Given the description of an element on the screen output the (x, y) to click on. 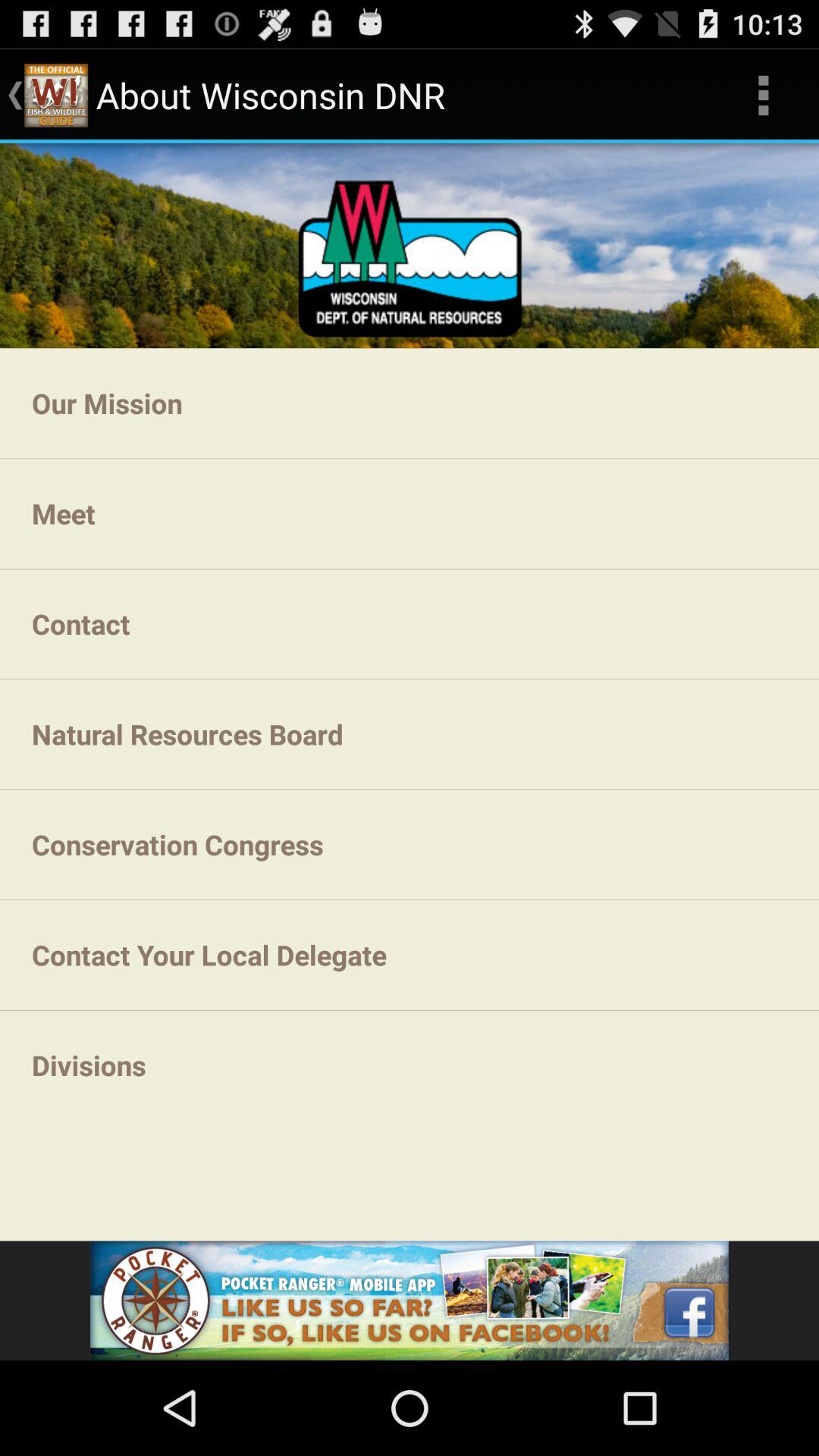
open advertisement (409, 1300)
